Given the description of an element on the screen output the (x, y) to click on. 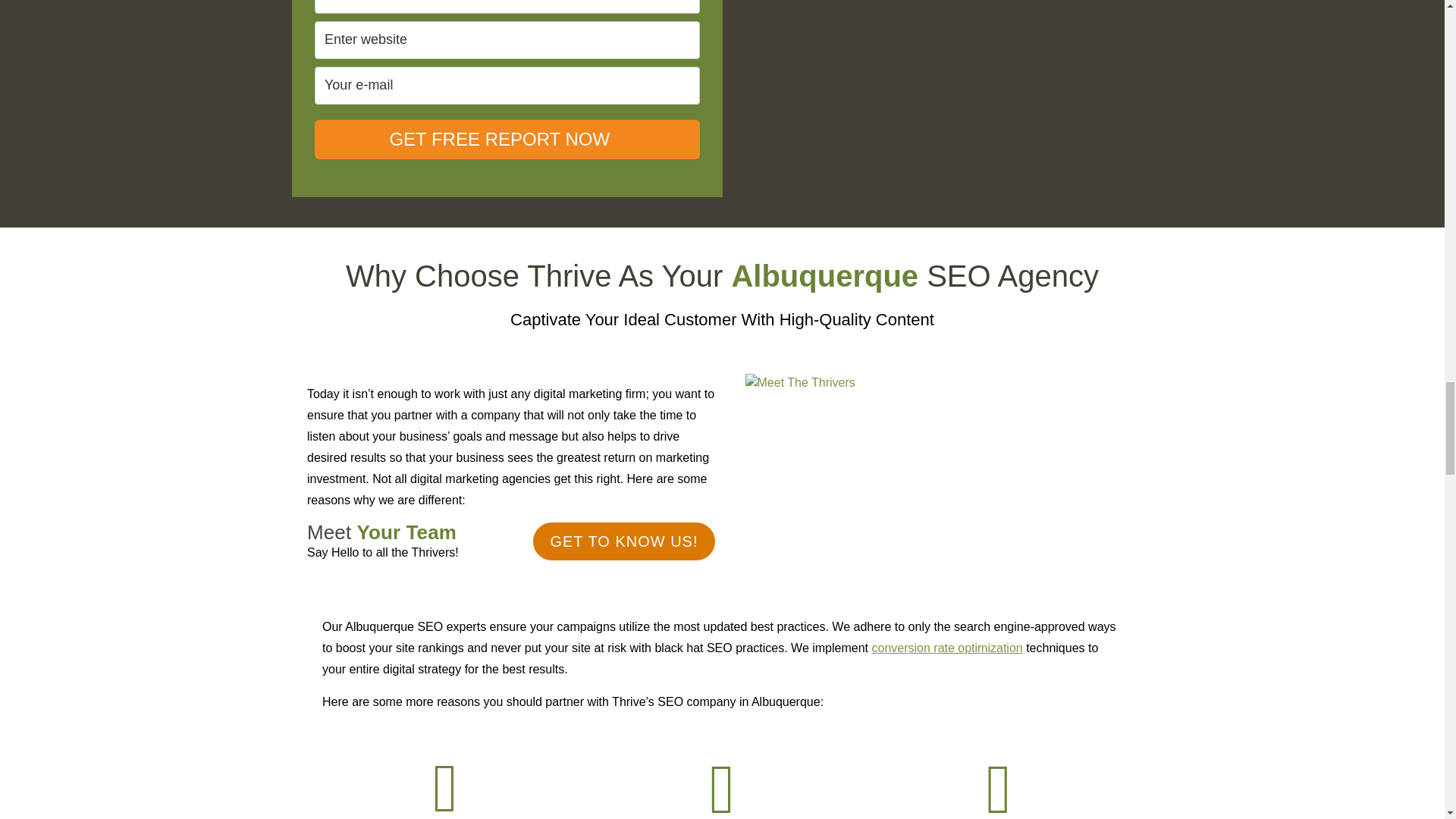
Get Free Report Now (507, 138)
